Given the description of an element on the screen output the (x, y) to click on. 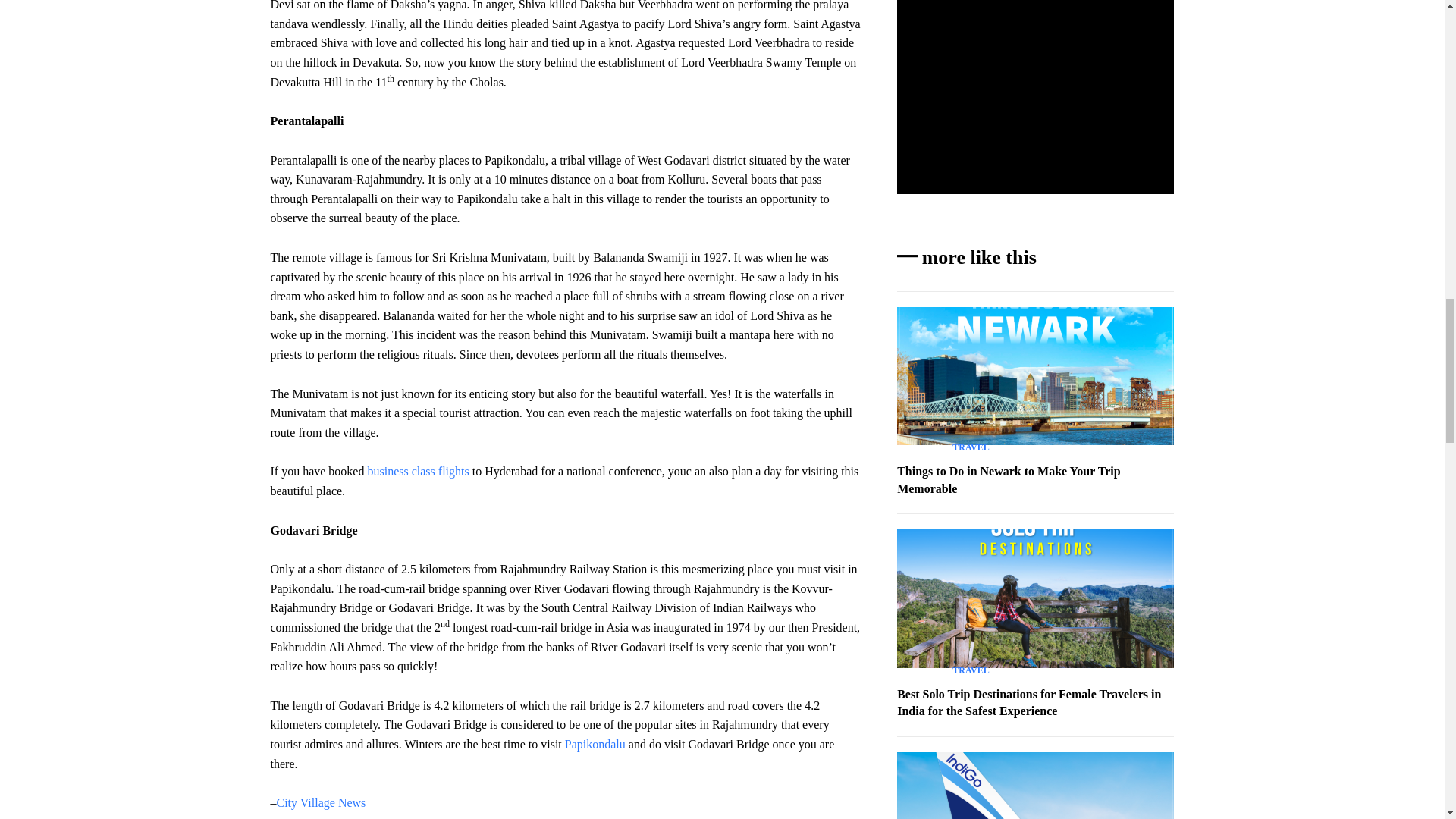
business class flights (417, 471)
